Given the description of an element on the screen output the (x, y) to click on. 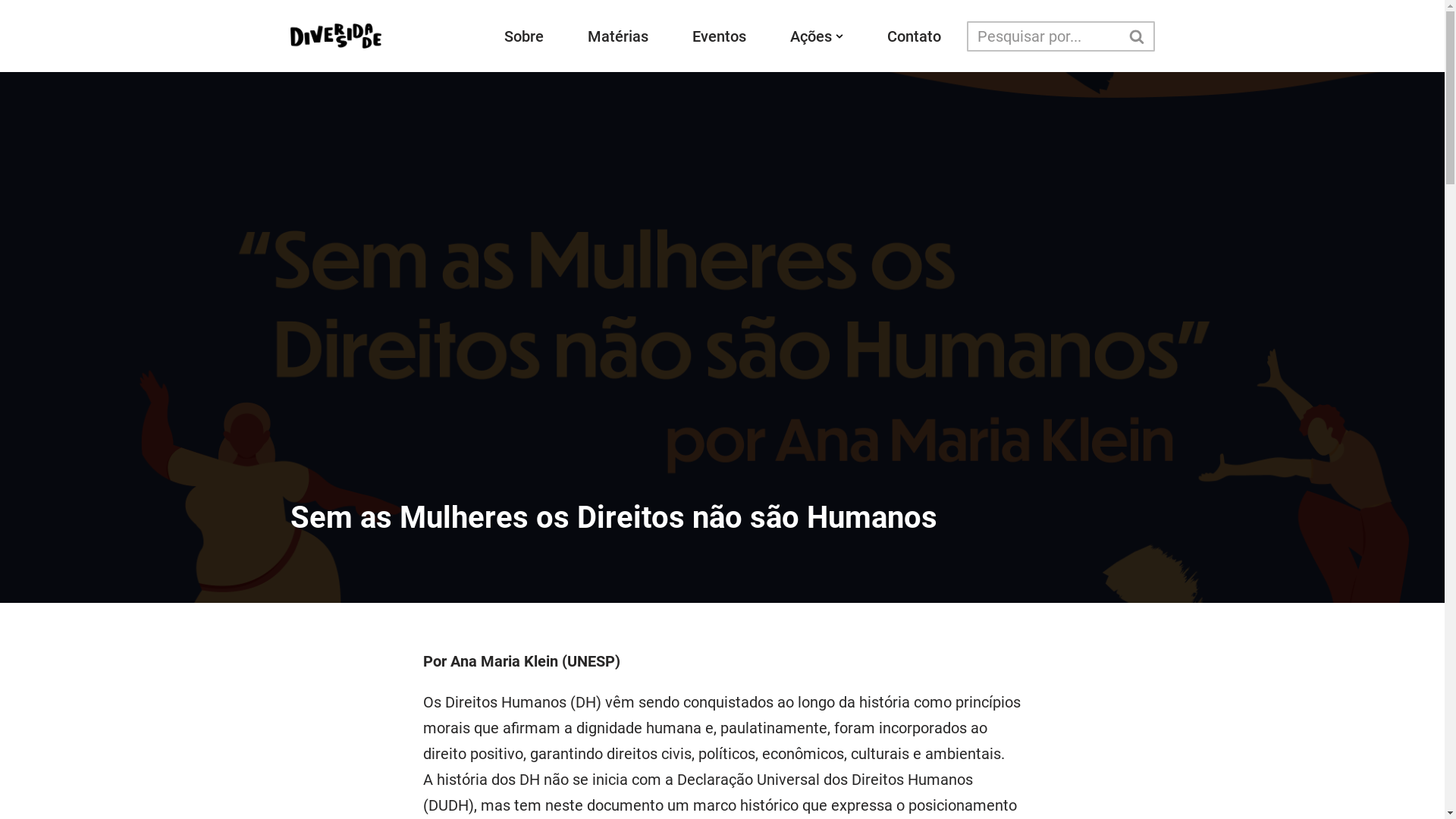
Sobre Element type: text (522, 35)
Contato Element type: text (914, 35)
Educando para Diversidade Element type: hover (334, 36)
Eventos Element type: text (718, 35)
